Given the description of an element on the screen output the (x, y) to click on. 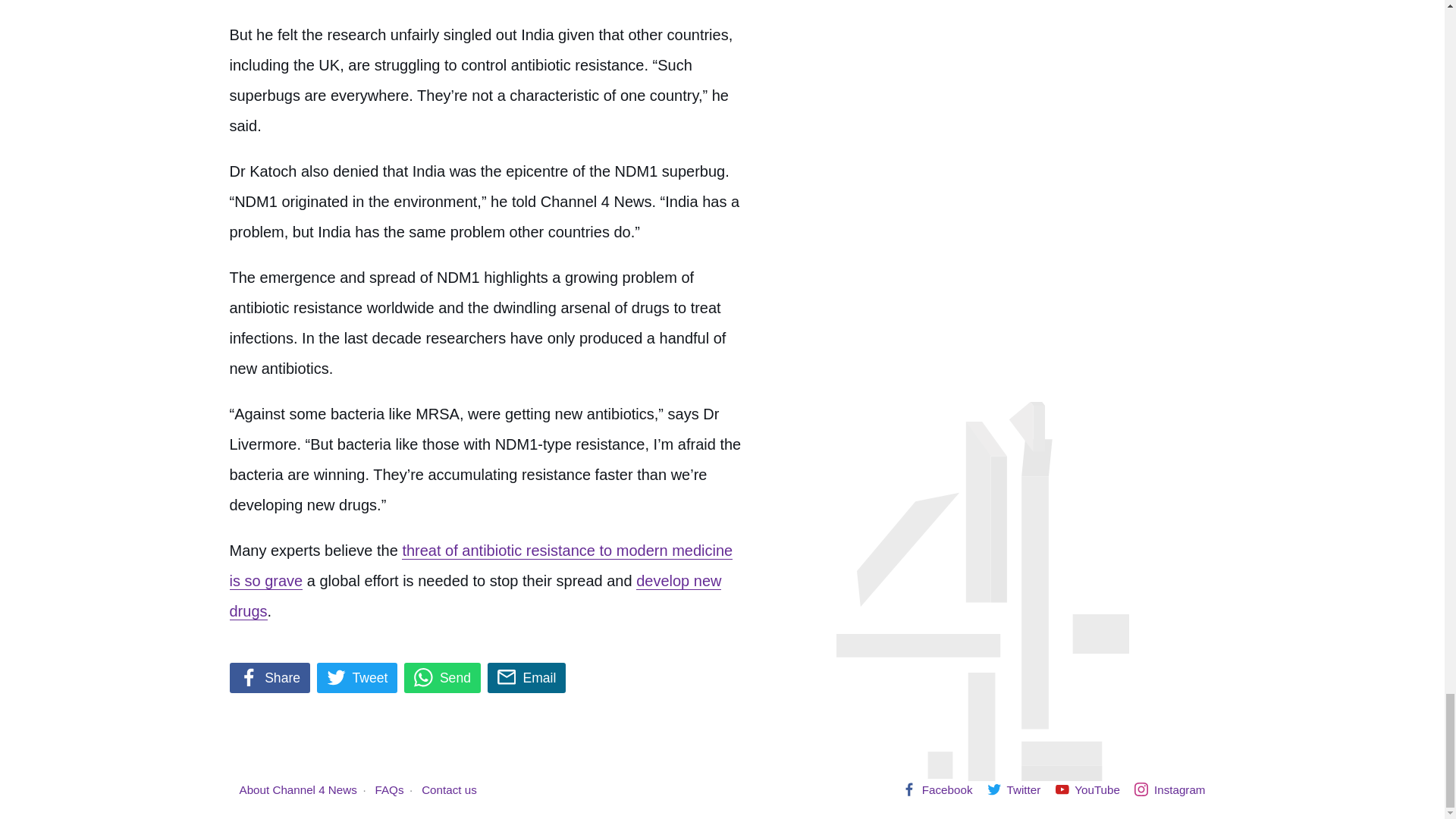
FAQs (389, 789)
Share (269, 677)
Twitter (1014, 789)
develop new drugs (474, 595)
YouTube (1087, 789)
About Channel 4 News (298, 789)
Tweet (357, 677)
Contact us (449, 789)
Email (526, 677)
Send (442, 677)
Facebook (937, 789)
